Given the description of an element on the screen output the (x, y) to click on. 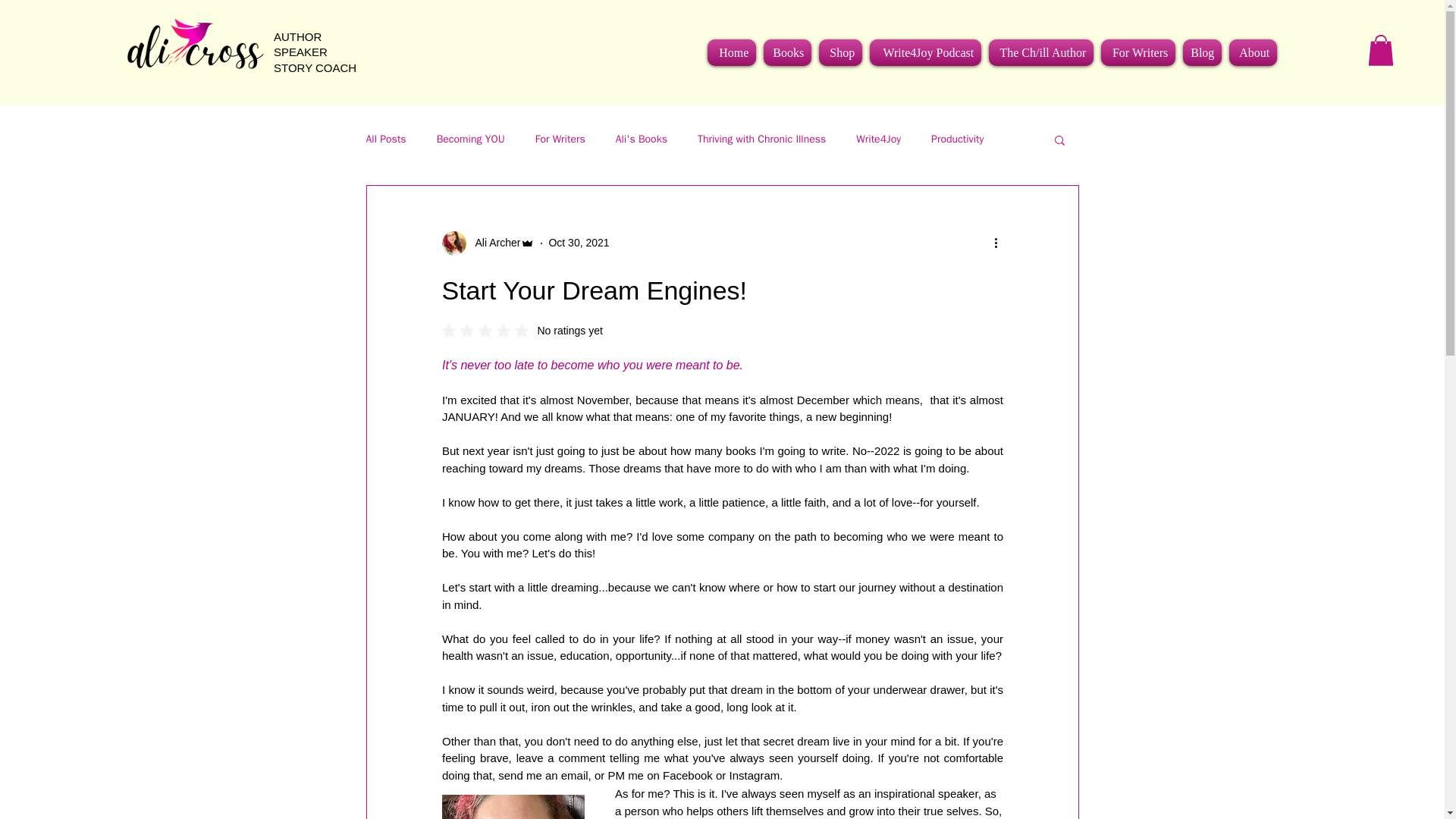
About (1250, 52)
Oct 30, 2021 (578, 242)
Becoming YOU (470, 139)
Books (787, 52)
Write4Joy Podcast (925, 52)
AUTHOR (297, 36)
Ali's Books (640, 139)
Ali Archer (492, 242)
Blog (521, 330)
